Given the description of an element on the screen output the (x, y) to click on. 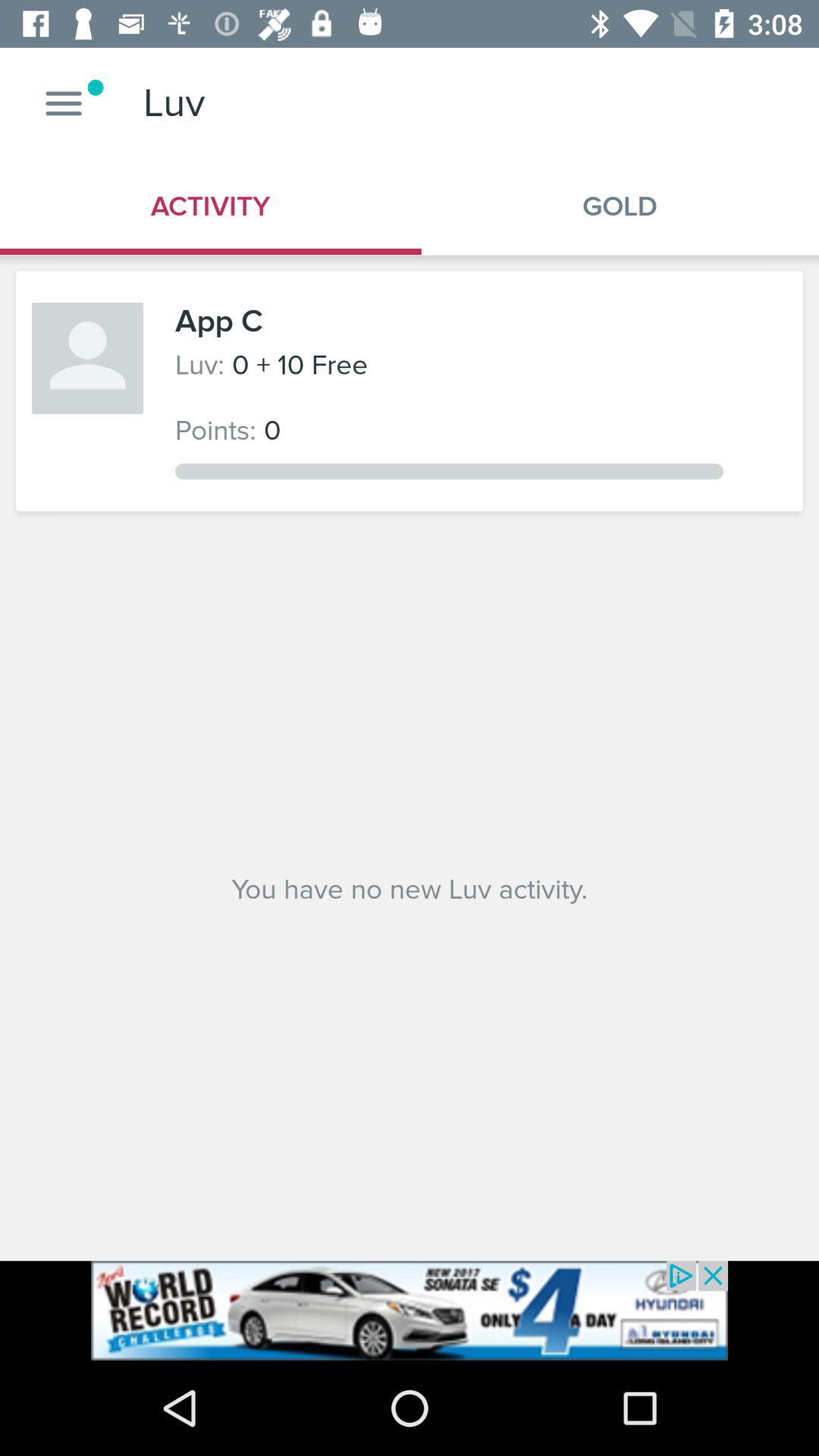
toggle the settings option (63, 103)
